Given the description of an element on the screen output the (x, y) to click on. 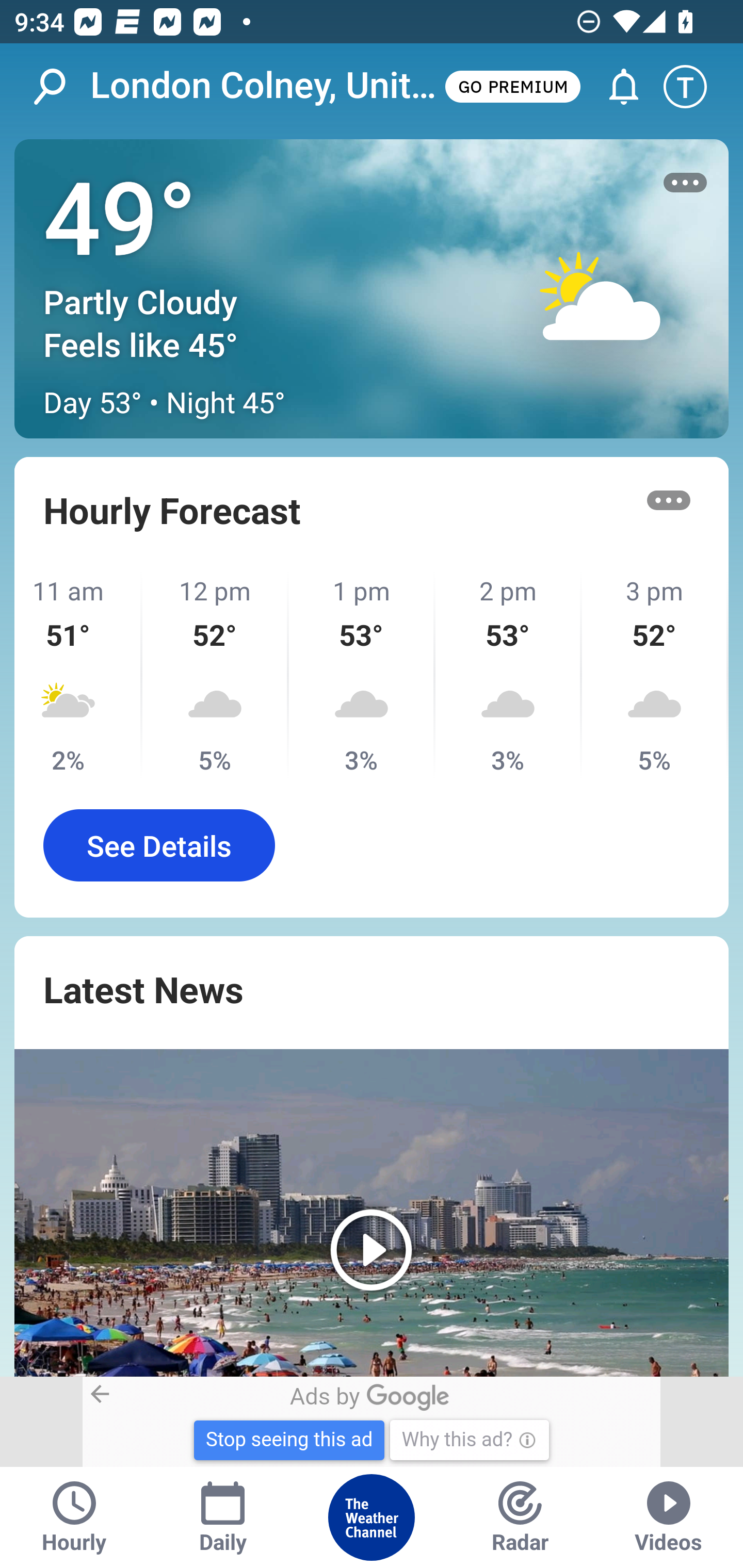
Search (59, 86)
Go to Alerts and Notifications (614, 86)
Setting icon T (694, 86)
London Colney, United Kingdom (265, 85)
GO PREMIUM (512, 85)
More options (684, 182)
More options (668, 500)
11 am 51° 2% (78, 674)
12 pm 52° 5% (215, 674)
1 pm 53° 3% (362, 674)
2 pm 53° 3% (508, 674)
3 pm 52° 5% (654, 674)
See Details (158, 845)
Play (371, 1212)
Hourly Tab Hourly (74, 1517)
Daily Tab Daily (222, 1517)
Radar Tab Radar (519, 1517)
Videos Tab Videos (668, 1517)
